Given the description of an element on the screen output the (x, y) to click on. 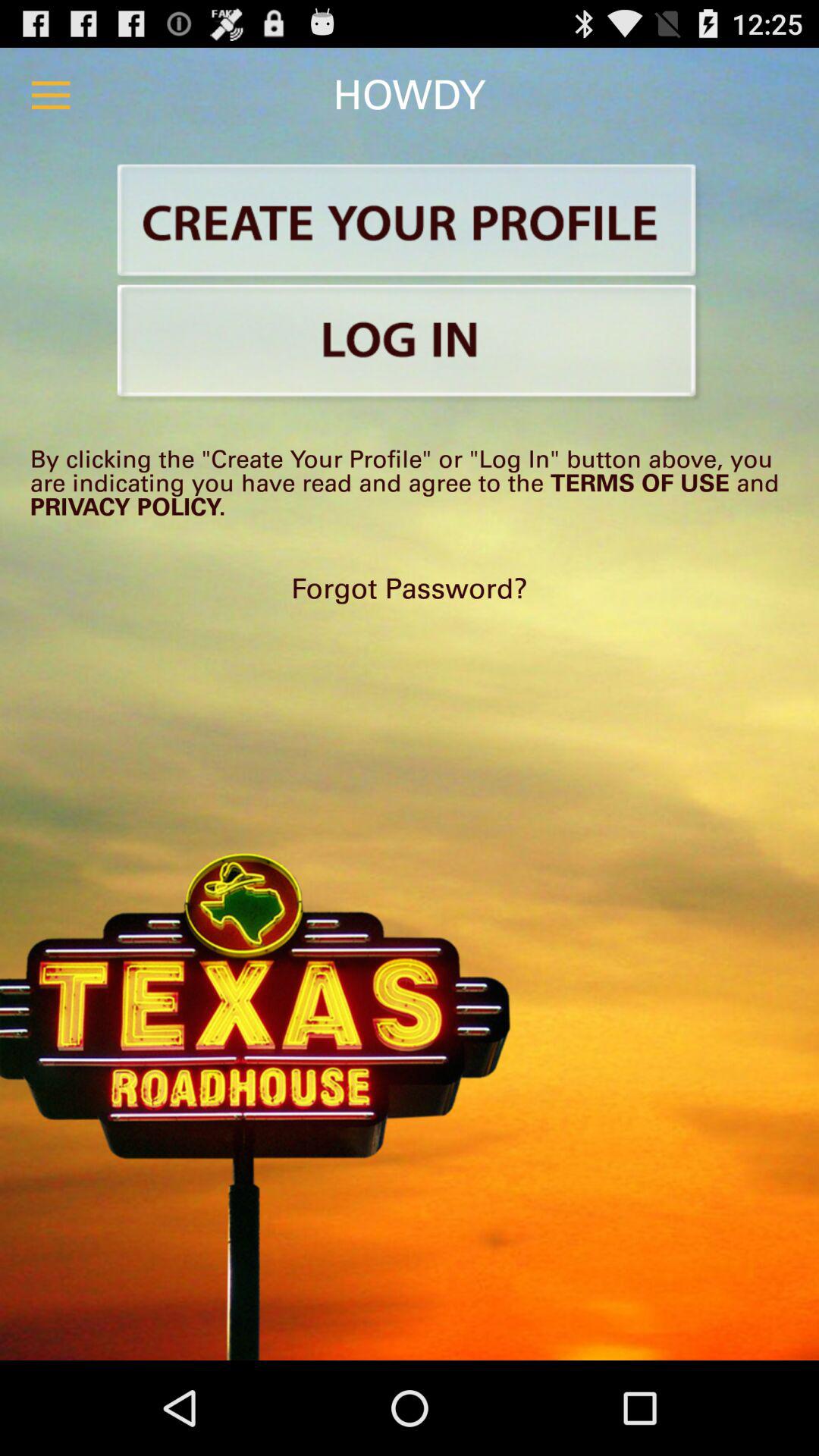
make account (409, 223)
